Given the description of an element on the screen output the (x, y) to click on. 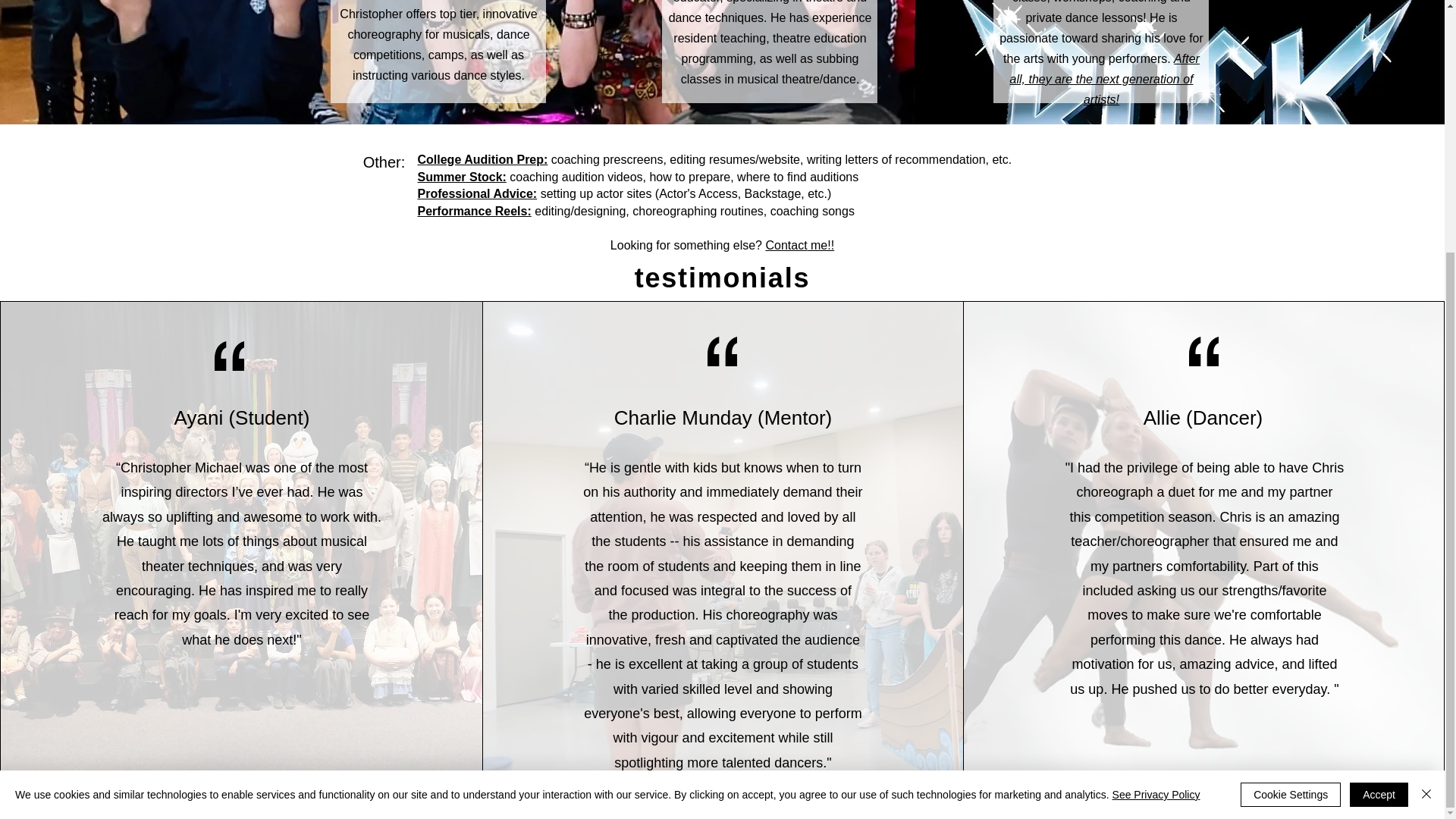
Contact me!! (799, 244)
Cookie Settings (1290, 437)
Accept (1378, 437)
See Privacy Policy (1155, 438)
